Given the description of an element on the screen output the (x, y) to click on. 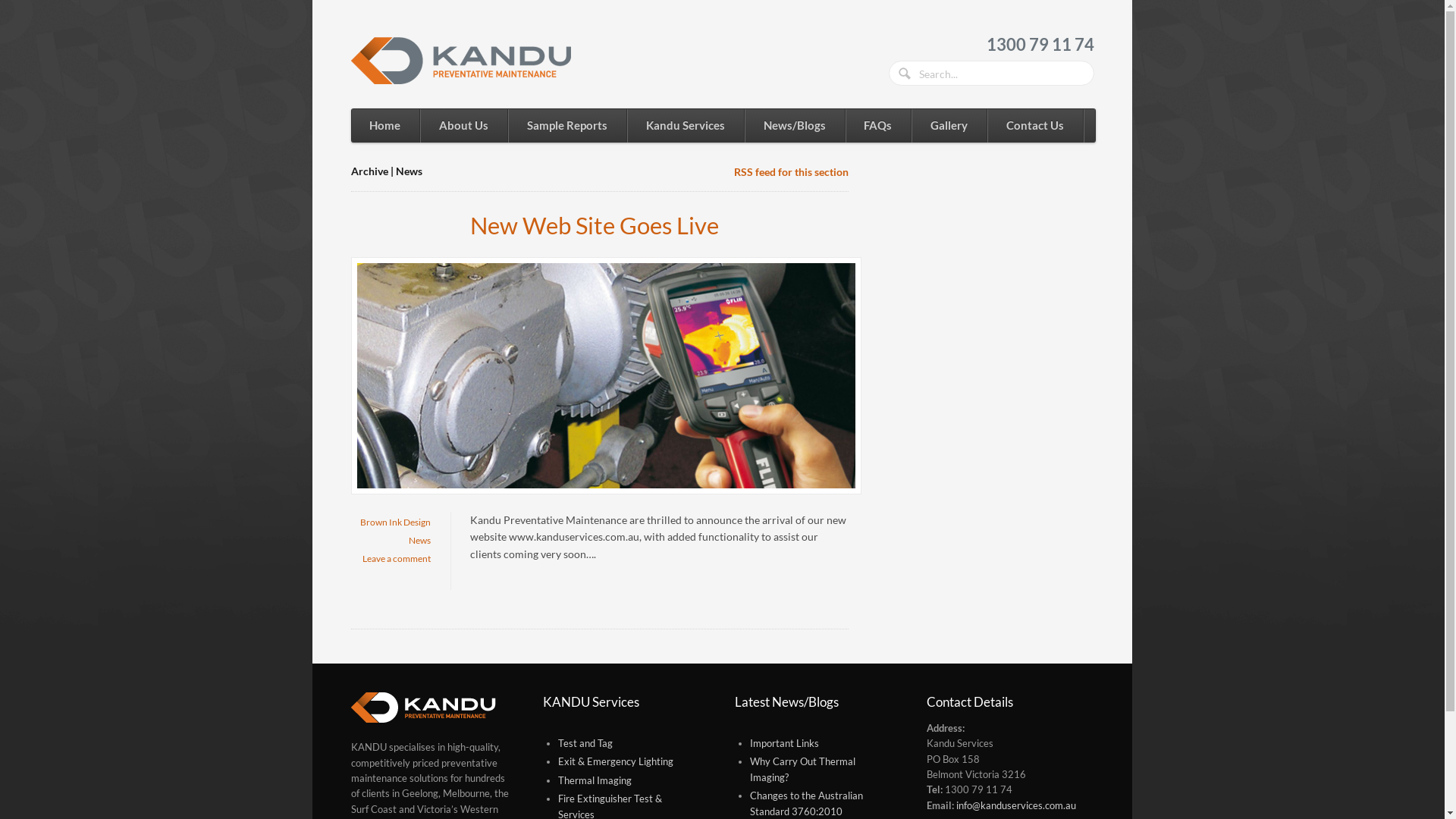
Gallery Element type: text (948, 125)
RSS feed for this section Element type: text (791, 171)
Thermal Imaging Element type: text (594, 780)
Search Element type: text (905, 74)
News/Blogs Element type: text (793, 125)
Changes to the Australian Standard 3760:2010 Element type: text (805, 803)
Important Links Element type: text (784, 743)
Leave a comment Element type: text (396, 558)
Sample Reports Element type: text (566, 125)
Exit & Emergency Lighting Element type: text (615, 761)
Contact Us Element type: text (1034, 125)
New Web Site Goes Live Element type: text (594, 224)
Kandu Services Element type: text (684, 125)
FAQs Element type: text (877, 125)
Brown Ink Design Element type: text (395, 521)
News Element type: text (419, 540)
Test and Tag Element type: text (585, 743)
Home Element type: text (384, 125)
info@kanduservices.com.au Element type: text (1016, 805)
Why Carry Out Thermal Imaging? Element type: text (802, 769)
About Us Element type: text (463, 125)
